Given the description of an element on the screen output the (x, y) to click on. 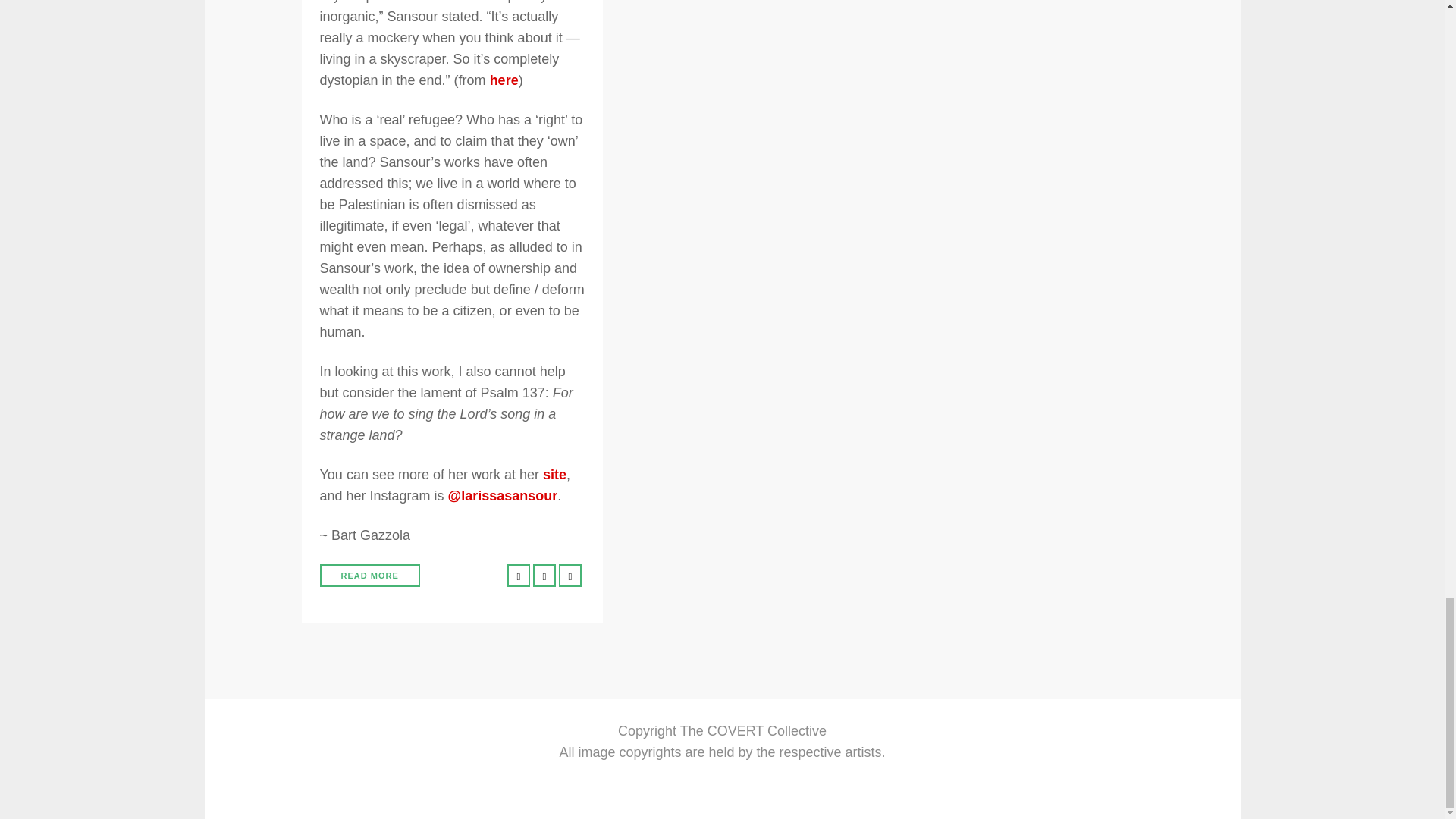
site (554, 474)
here (503, 79)
READ MORE (370, 575)
